Given the description of an element on the screen output the (x, y) to click on. 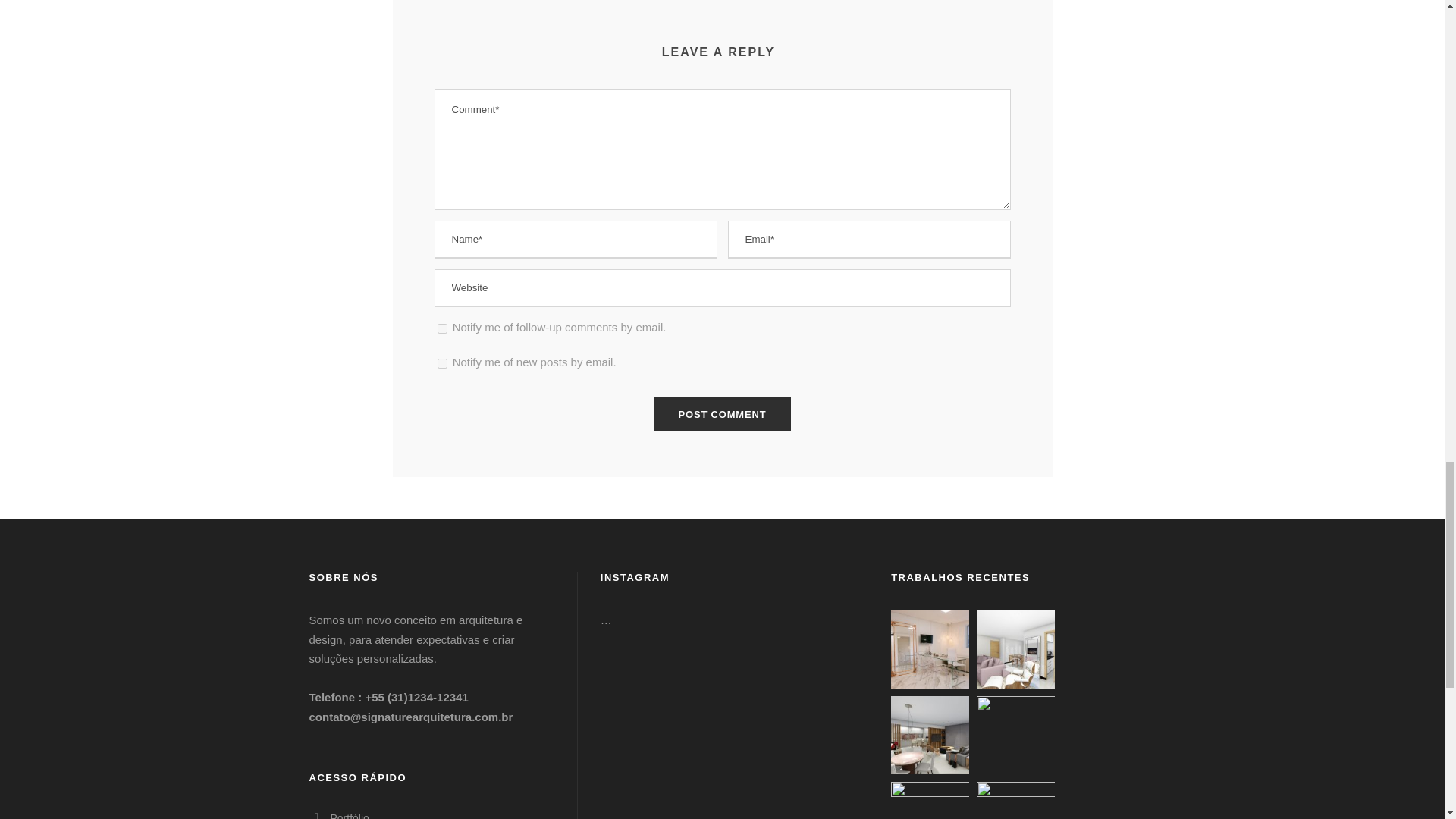
Post Comment (722, 414)
subscribe (441, 362)
subscribe (441, 328)
Post Comment (722, 414)
